Given the description of an element on the screen output the (x, y) to click on. 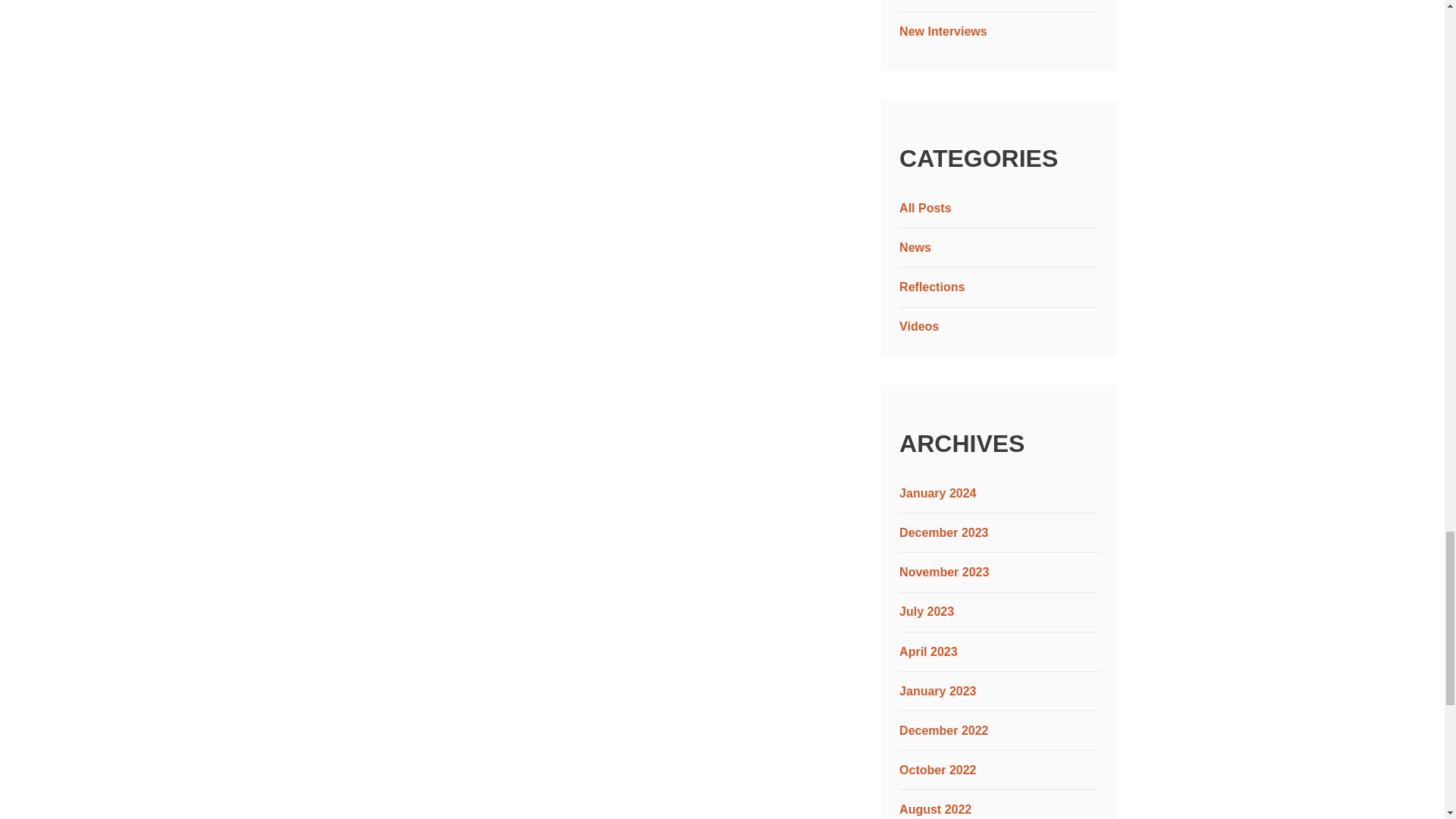
News (915, 246)
New Interviews (943, 31)
All Posts (924, 207)
